Given the description of an element on the screen output the (x, y) to click on. 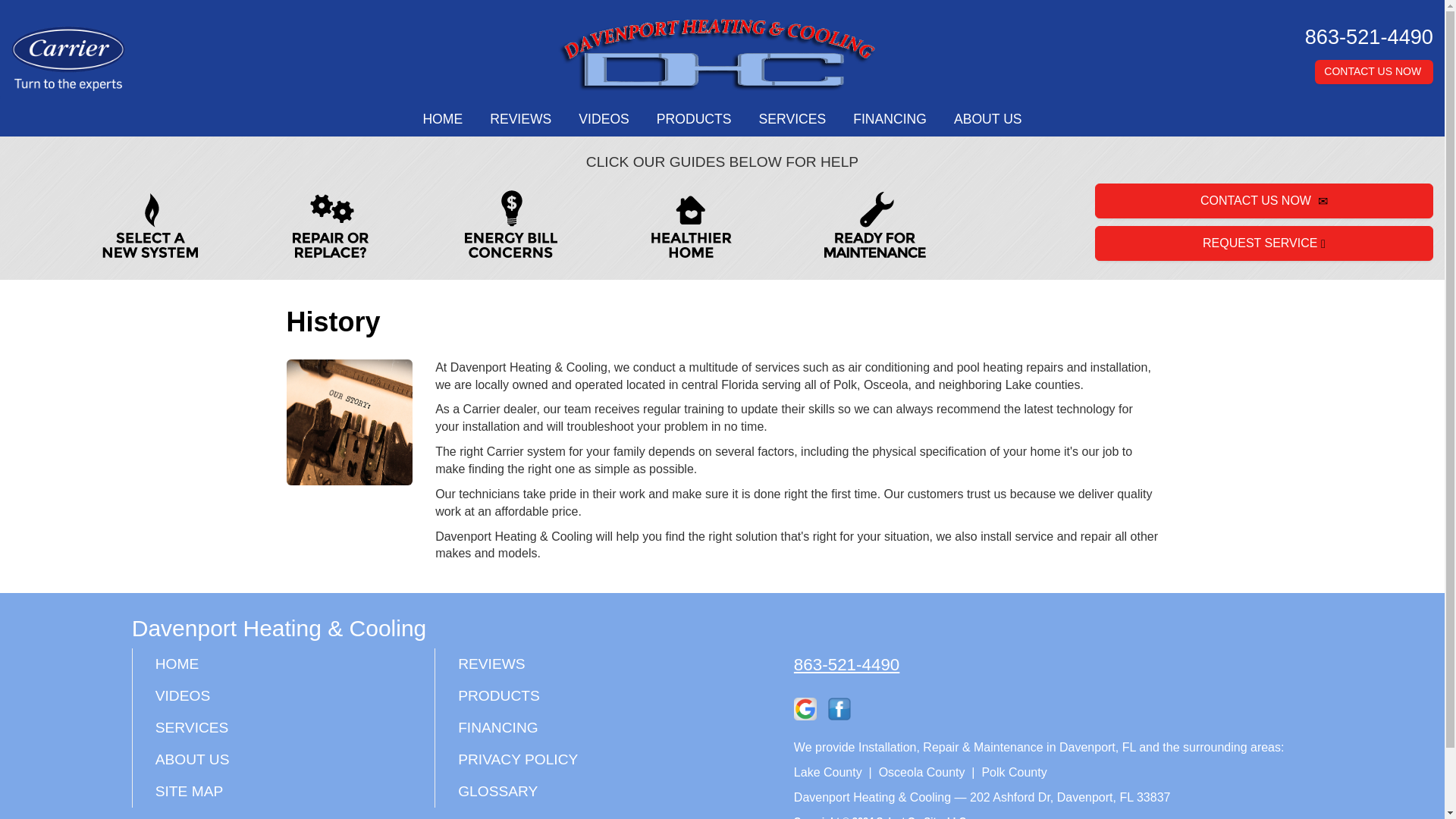
FINANCING (890, 119)
 863-521-4490 (1365, 36)
HOME (442, 119)
REVIEWS (520, 119)
PRODUCTS (694, 119)
CONTACT US NOW  (1373, 71)
ABOUT US (987, 119)
VIDEOS (603, 119)
SERVICES (792, 119)
